Given the description of an element on the screen output the (x, y) to click on. 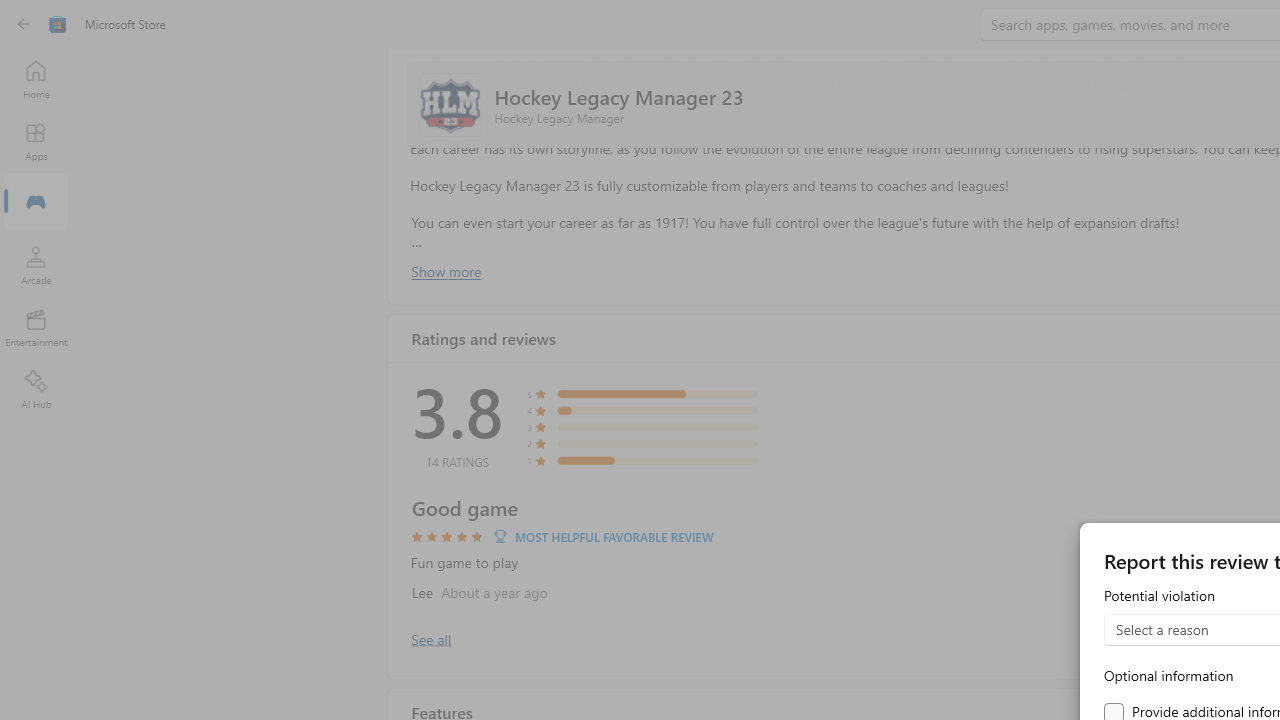
Show all ratings and reviews (430, 637)
Back (24, 24)
Show more (445, 271)
